Given the description of an element on the screen output the (x, y) to click on. 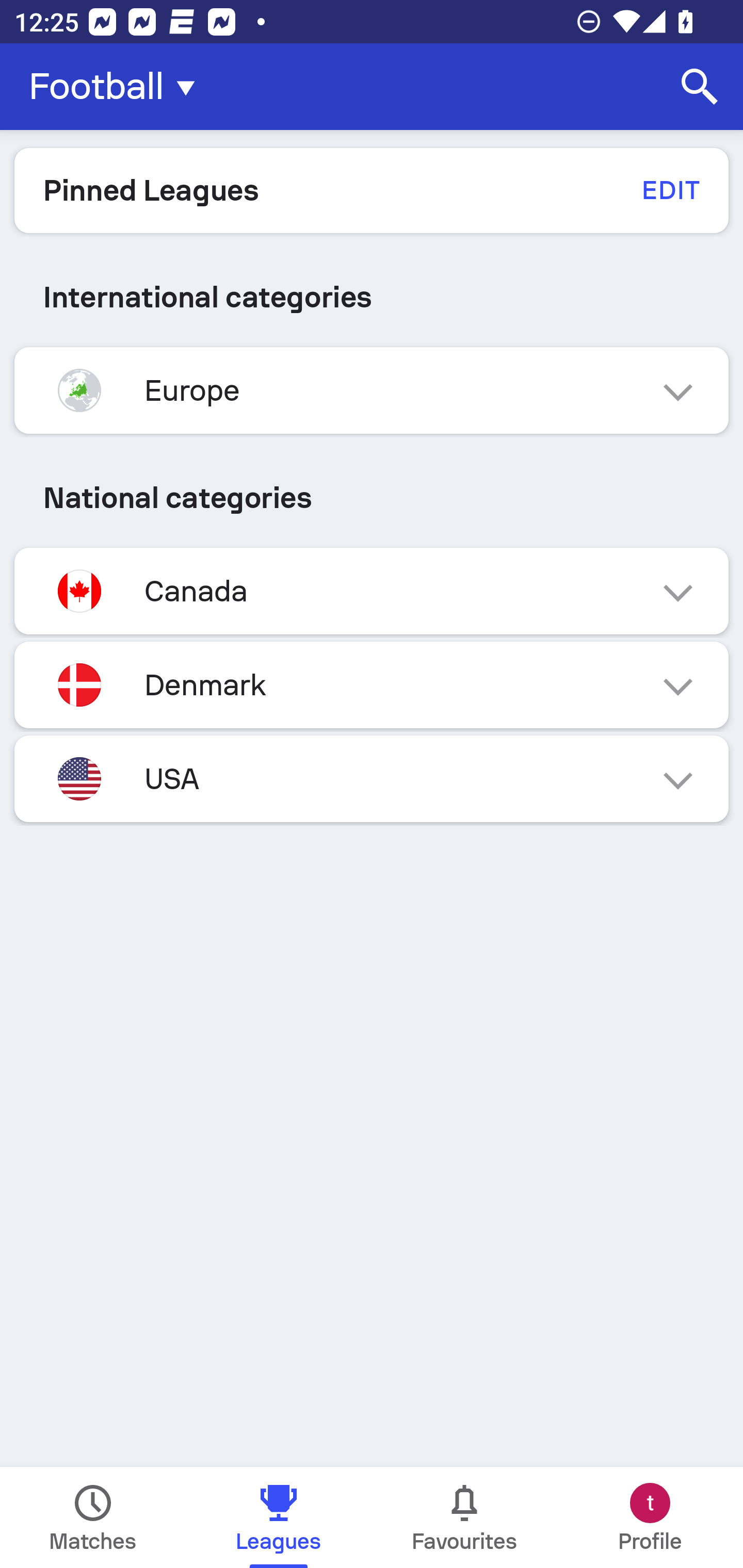
Football (117, 86)
Search (699, 86)
Pinned Leagues EDIT (371, 190)
EDIT (670, 190)
International categories (371, 296)
Europe (371, 390)
National categories (371, 497)
Canada (371, 591)
Denmark (371, 684)
USA (371, 778)
Matches (92, 1517)
Favourites (464, 1517)
Profile (650, 1517)
